Given the description of an element on the screen output the (x, y) to click on. 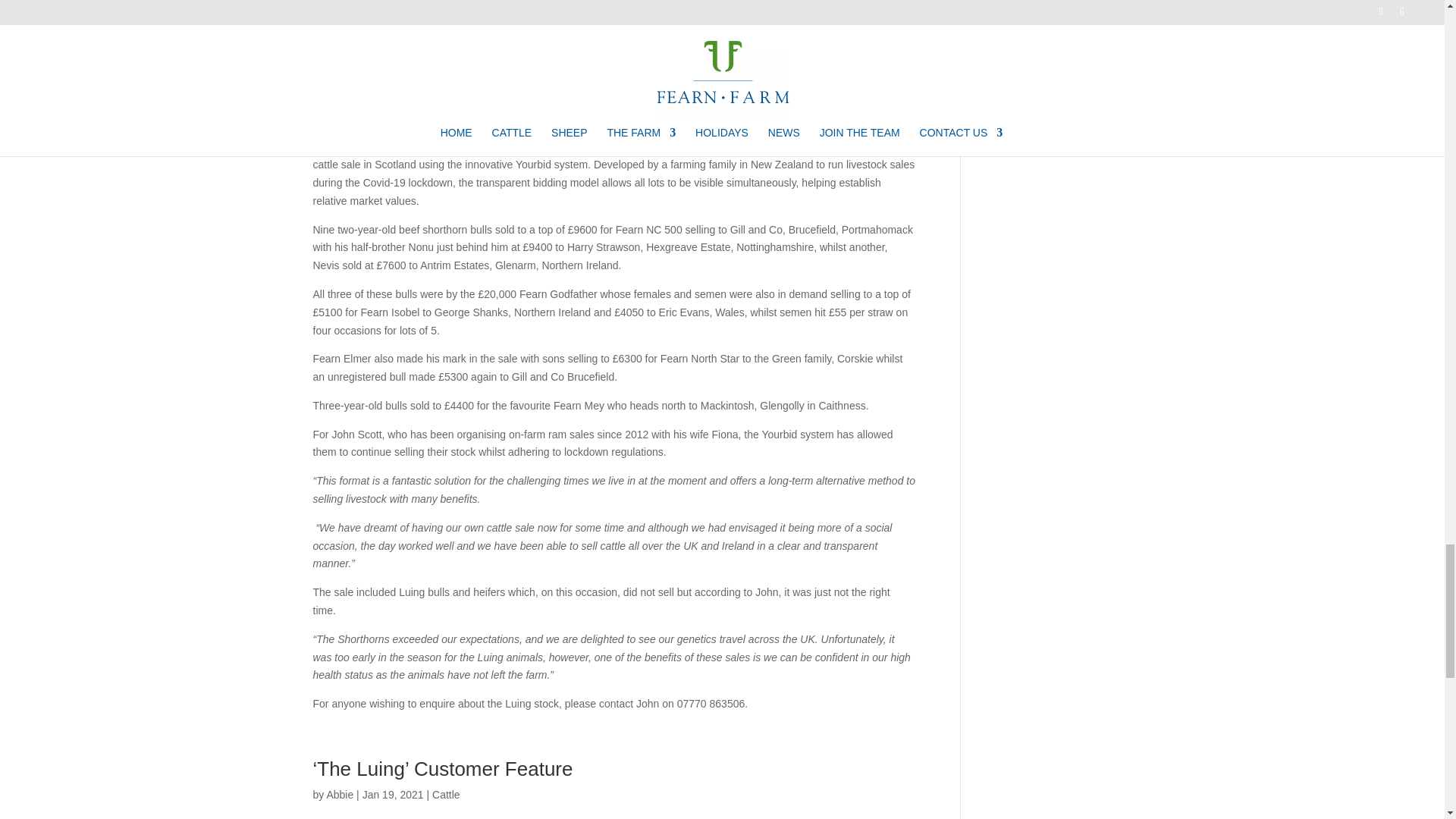
Posts by Abbie (339, 65)
Posts by Abbie (339, 794)
